Given the description of an element on the screen output the (x, y) to click on. 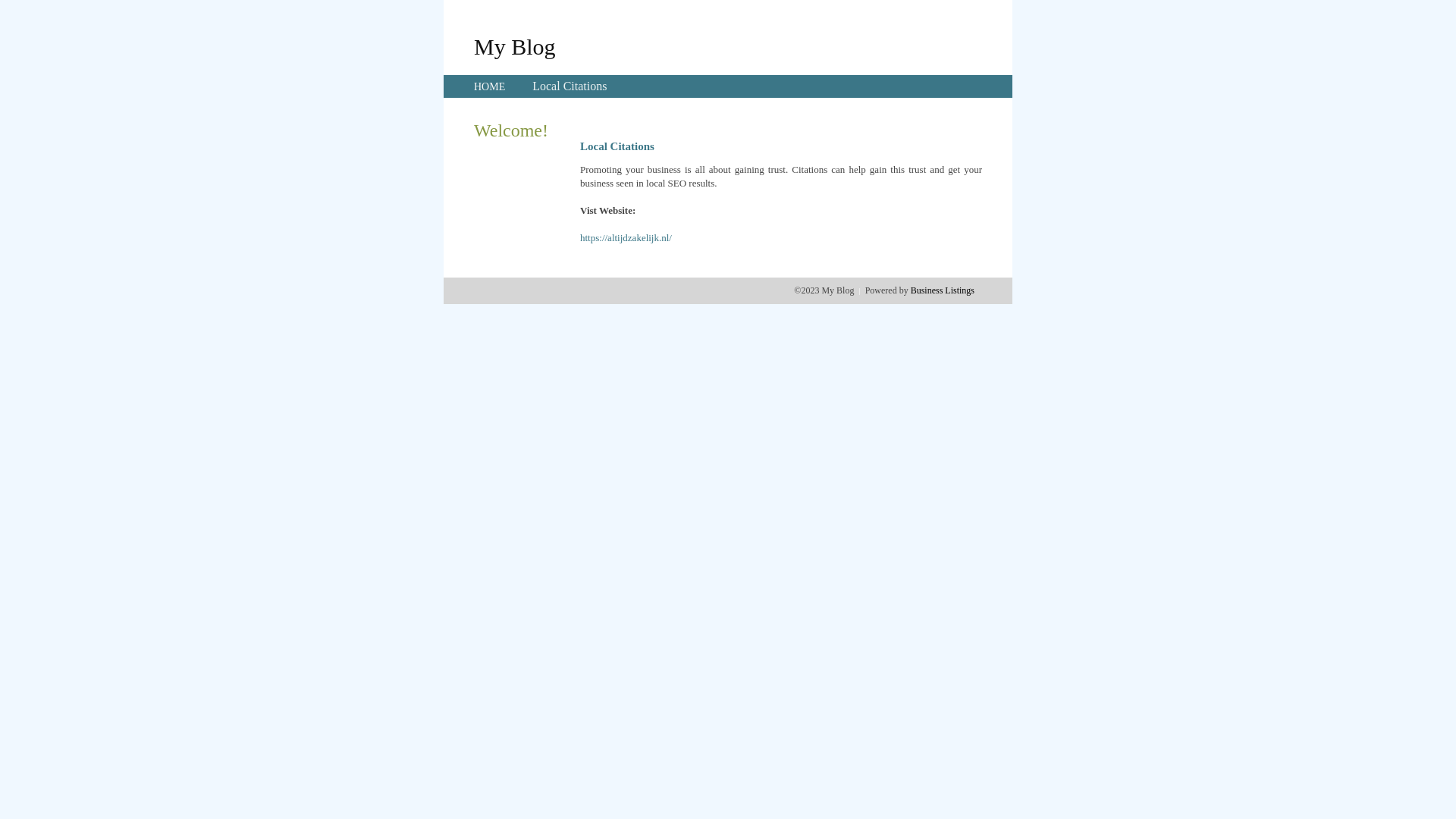
HOME Element type: text (489, 86)
My Blog Element type: text (514, 46)
Business Listings Element type: text (942, 290)
Local Citations Element type: text (569, 85)
https://altijdzakelijk.nl/ Element type: text (625, 237)
